Given the description of an element on the screen output the (x, y) to click on. 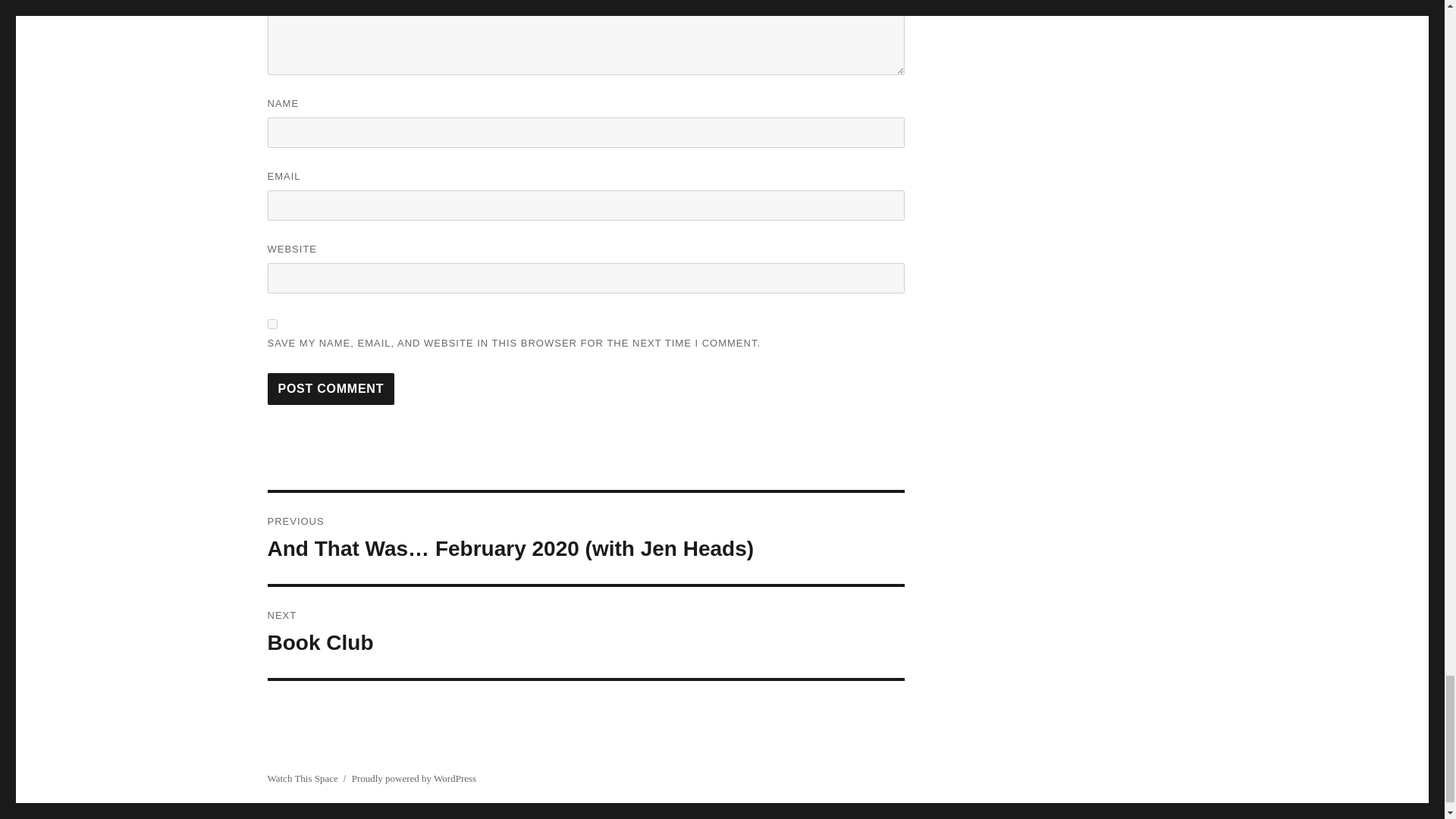
Post Comment (330, 388)
Post Comment (330, 388)
yes (585, 632)
